Given the description of an element on the screen output the (x, y) to click on. 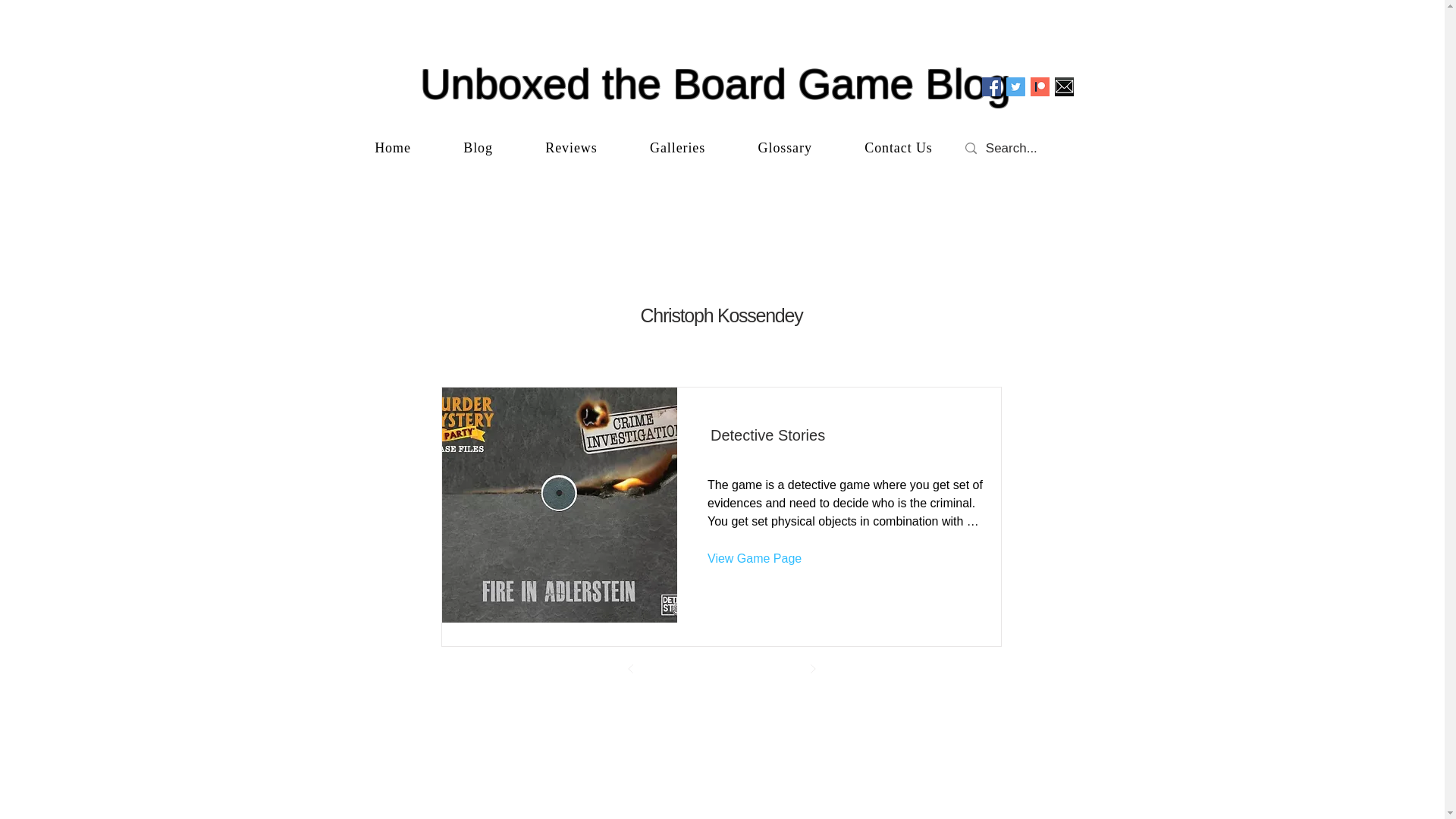
Unboxed the Board Game Blog (715, 83)
Blog (478, 147)
Reviews (571, 147)
Detective Stories.webp (559, 504)
Glossary (785, 147)
Contact Us (898, 147)
Home (392, 147)
Galleries (677, 147)
View Game Page (757, 558)
